Given the description of an element on the screen output the (x, y) to click on. 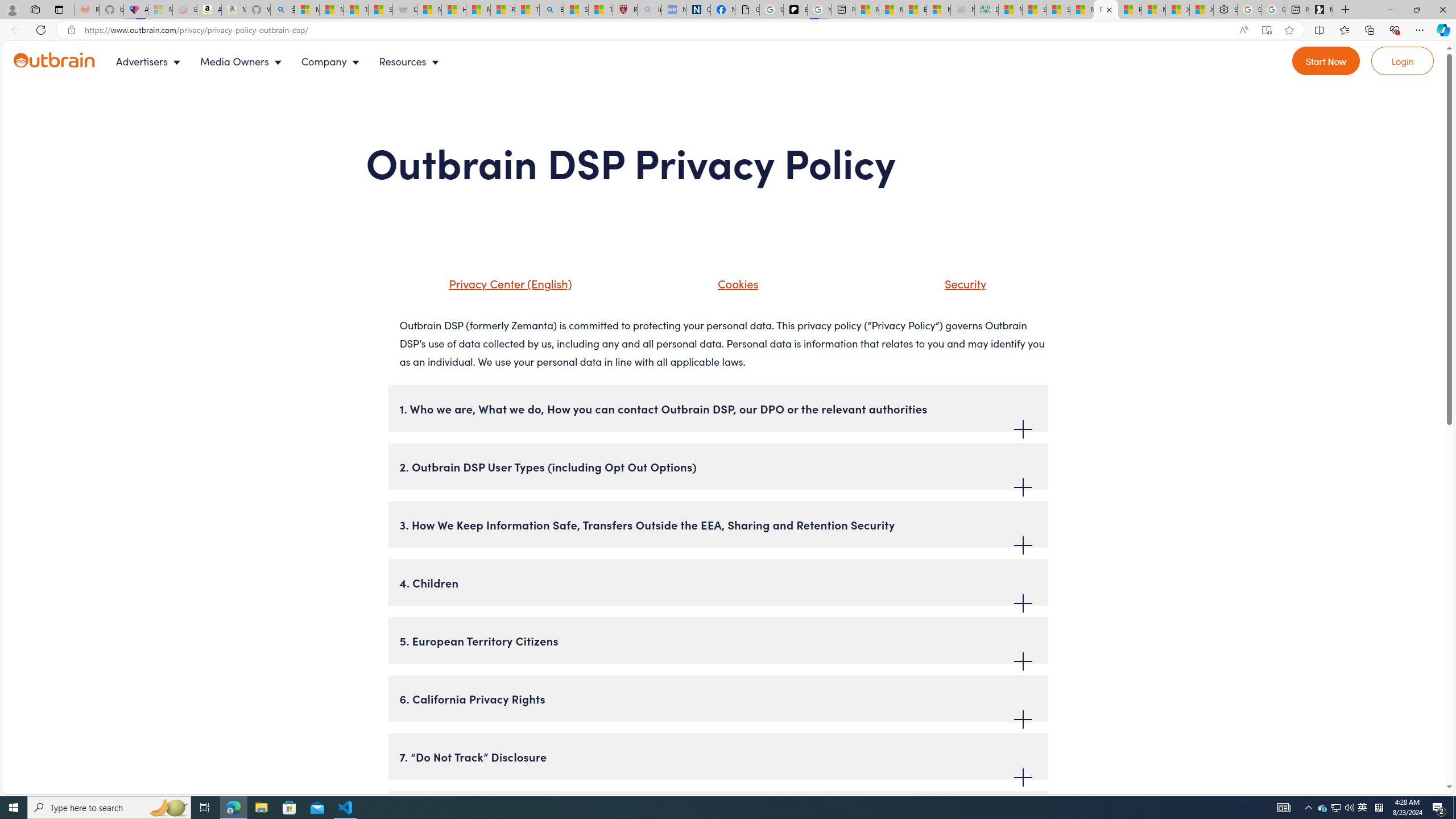
2. Outbrain DSP User Types (including Opt Out Options) (717, 466)
12 Popular Science Lies that Must be Corrected (600, 9)
Outbrain logo - link to homepage (54, 59)
Go to Register (1325, 60)
Microsoft Start Gaming (1321, 9)
Company (333, 61)
Media Owners (242, 61)
Skip navigation to go to main content (34, 46)
Combat Siege (404, 9)
